Given the description of an element on the screen output the (x, y) to click on. 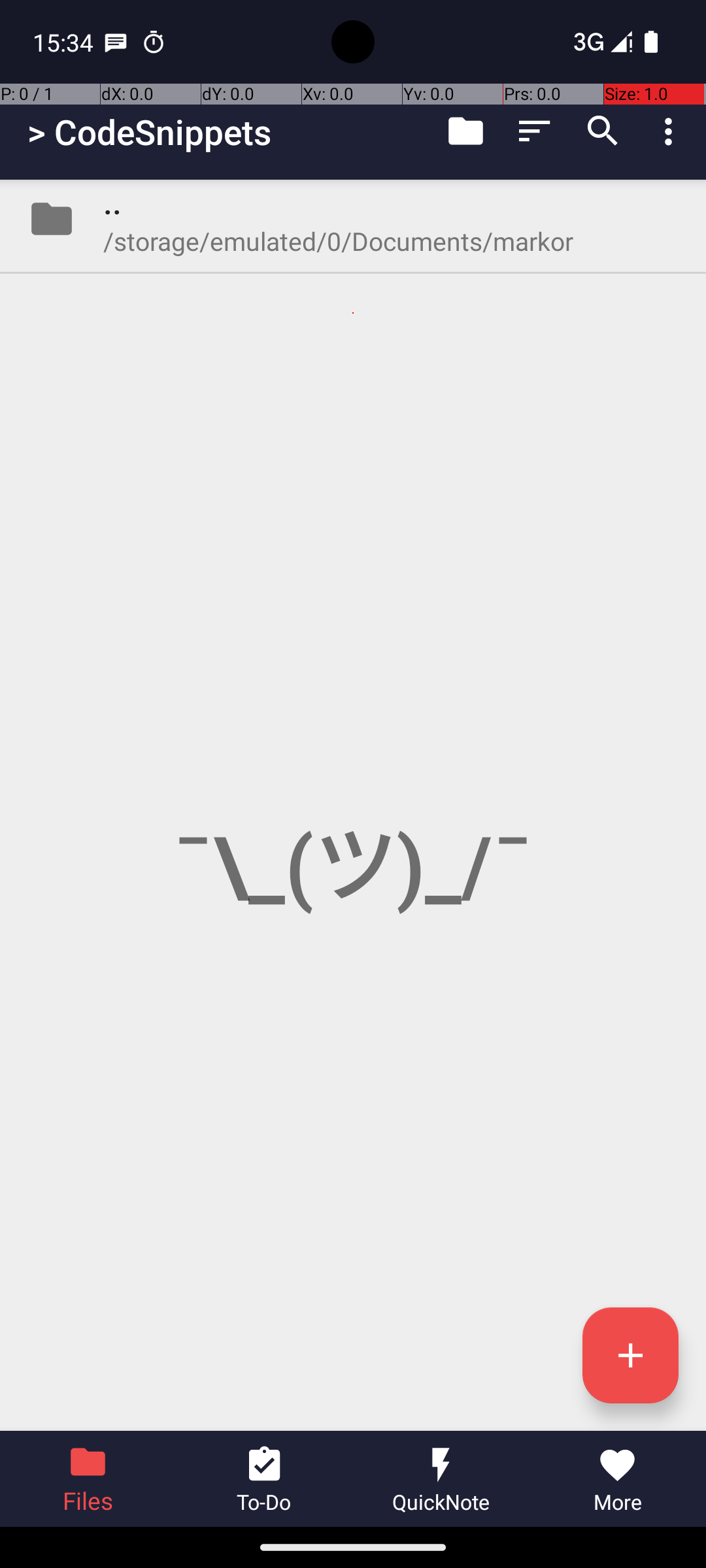
> CodeSnippets Element type: android.widget.TextView (149, 131)
